Given the description of an element on the screen output the (x, y) to click on. 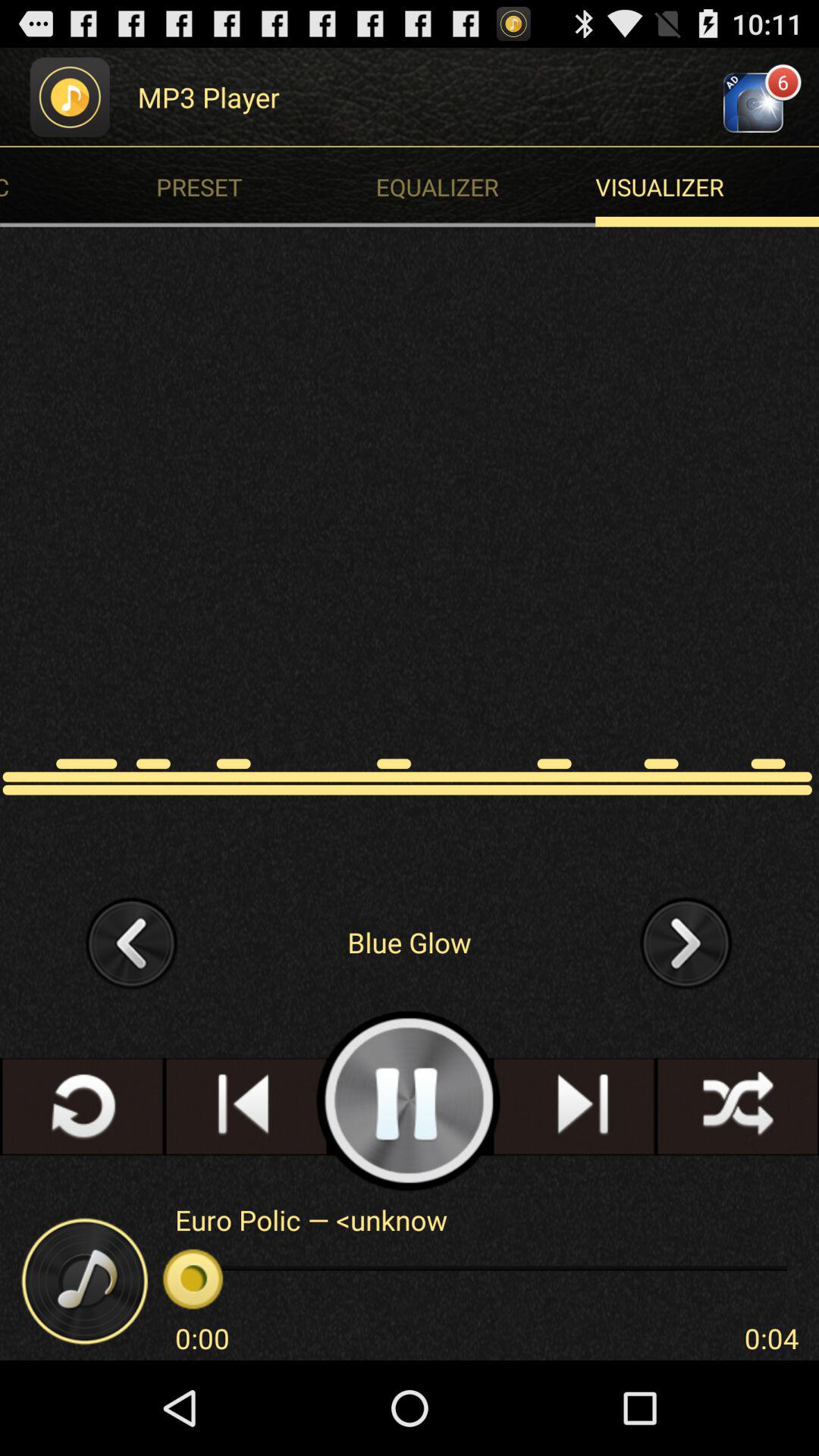
go back (131, 941)
